Given the description of an element on the screen output the (x, y) to click on. 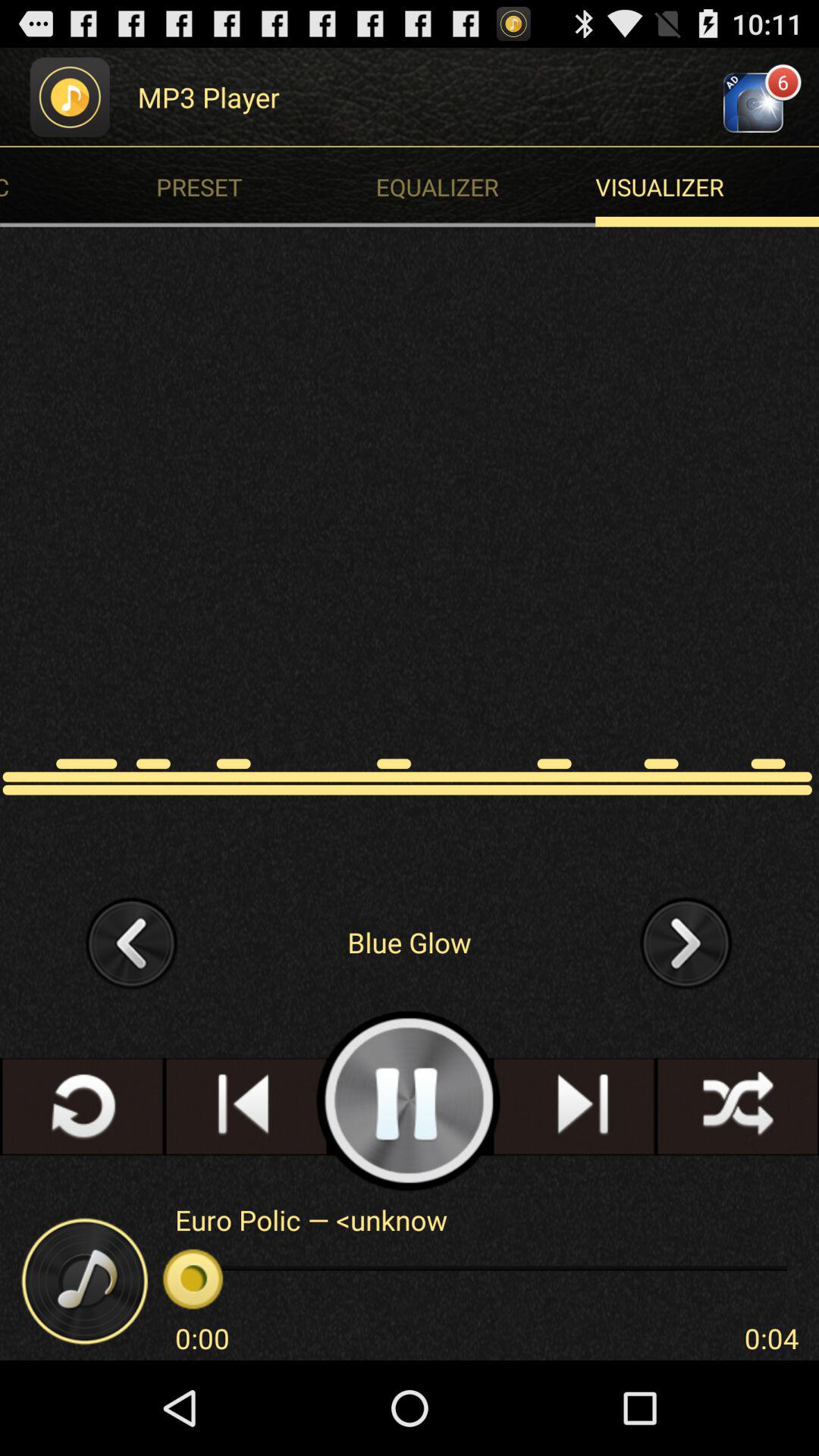
go back (131, 941)
